Given the description of an element on the screen output the (x, y) to click on. 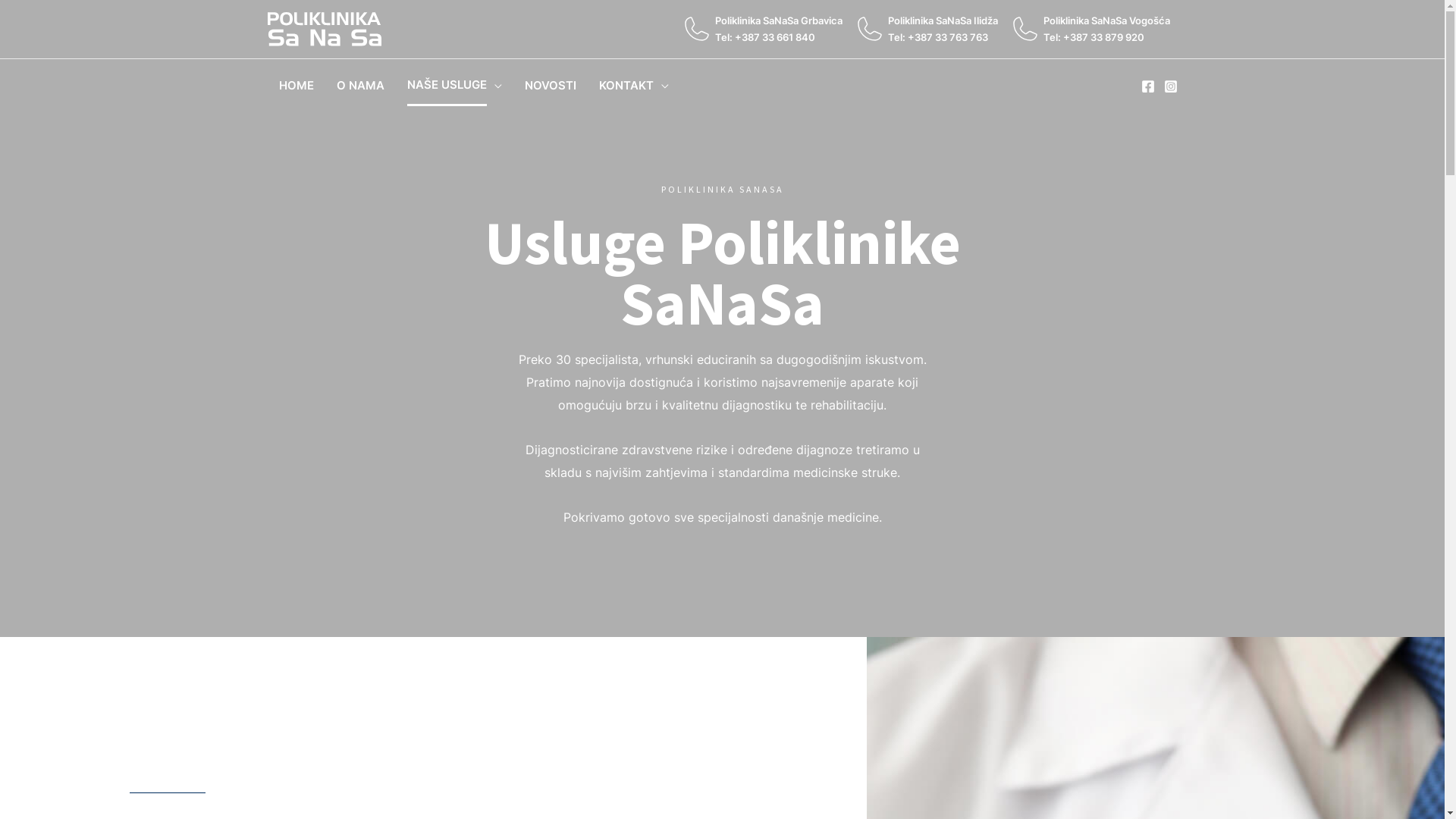
O NAMA Element type: text (359, 85)
NOVOSTI Element type: text (549, 85)
HOME Element type: text (295, 85)
KONTAKT Element type: text (632, 85)
